Given the description of an element on the screen output the (x, y) to click on. 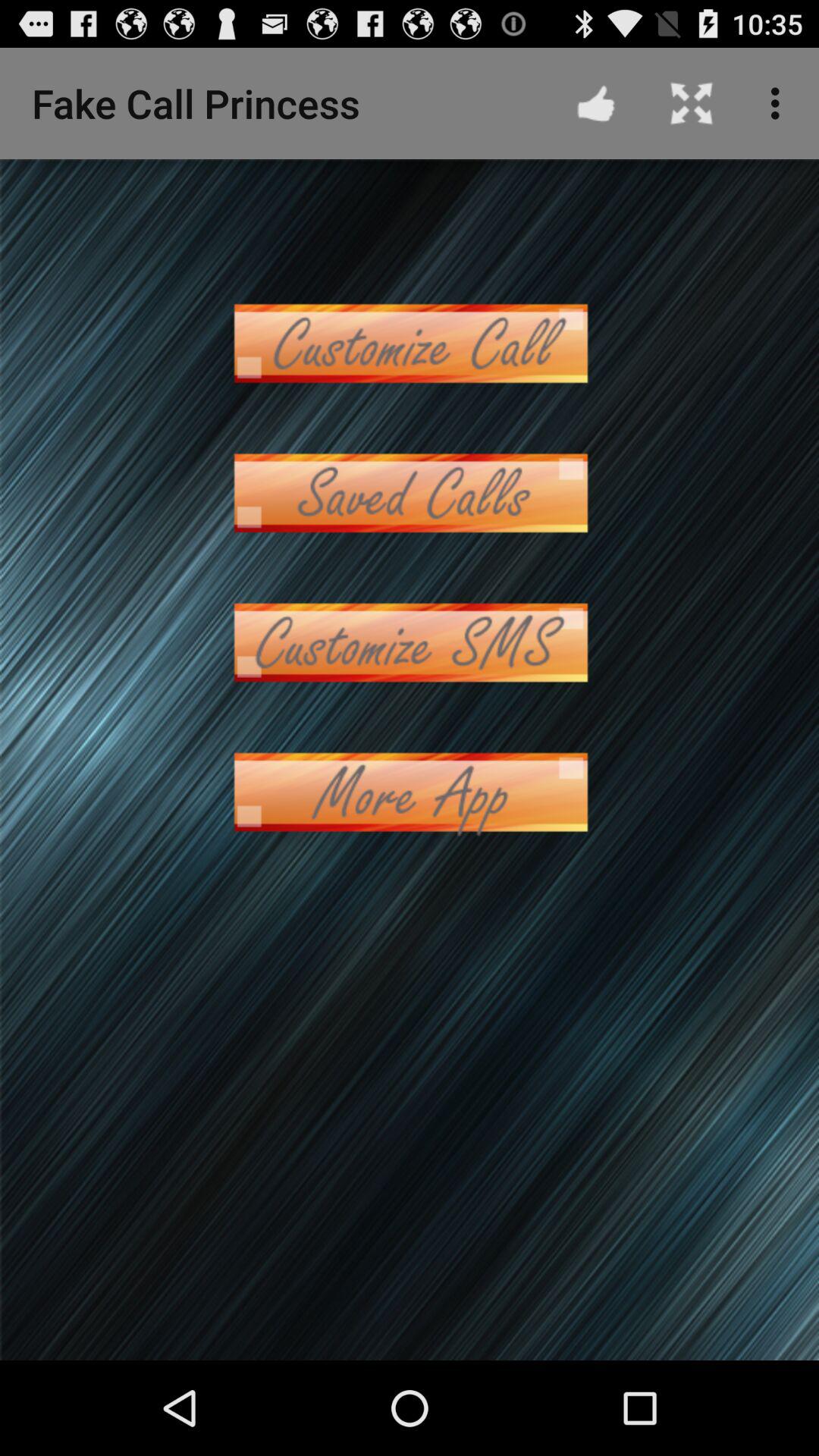
saved calls (409, 492)
